Given the description of an element on the screen output the (x, y) to click on. 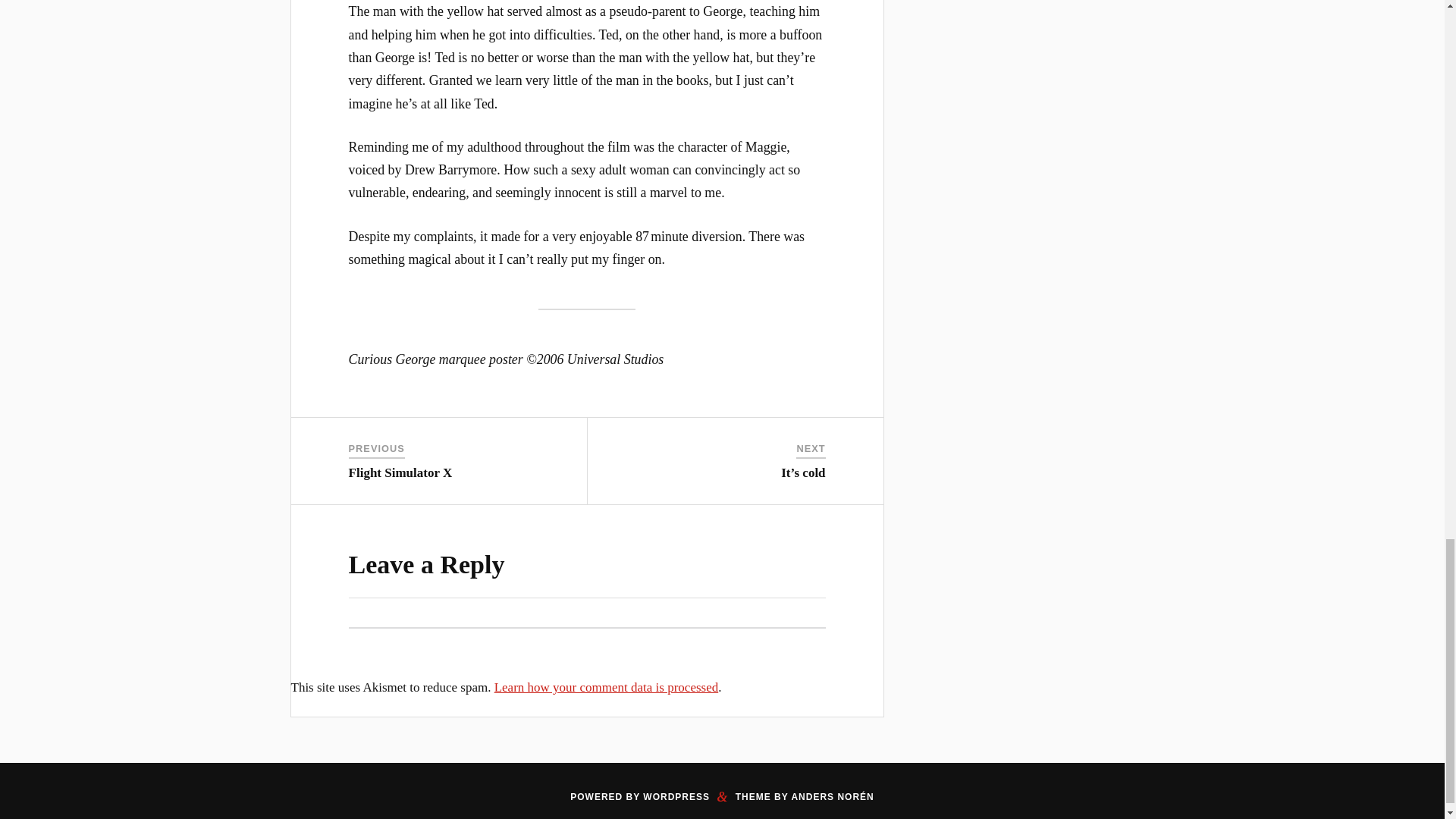
Learn how your comment data is processed (607, 687)
Flight Simulator X (400, 472)
WORDPRESS (676, 796)
